Given the description of an element on the screen output the (x, y) to click on. 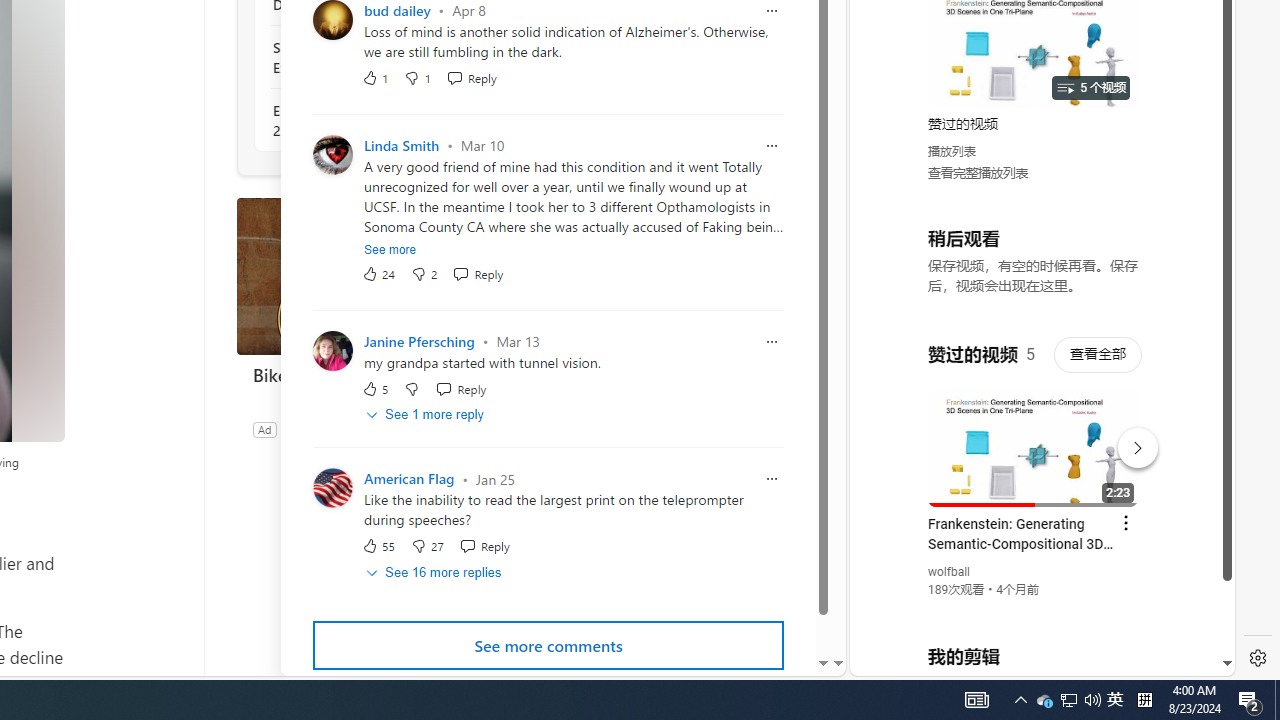
24 Like (378, 272)
See 1 more reply (425, 415)
Global web icon (888, 432)
Class: dict_pnIcon rms_img (1028, 660)
See more (390, 249)
Ad Choice (514, 429)
Profile Picture (333, 488)
#you (1034, 439)
Actions for this site (1131, 443)
Feedback (755, 659)
